Given the description of an element on the screen output the (x, y) to click on. 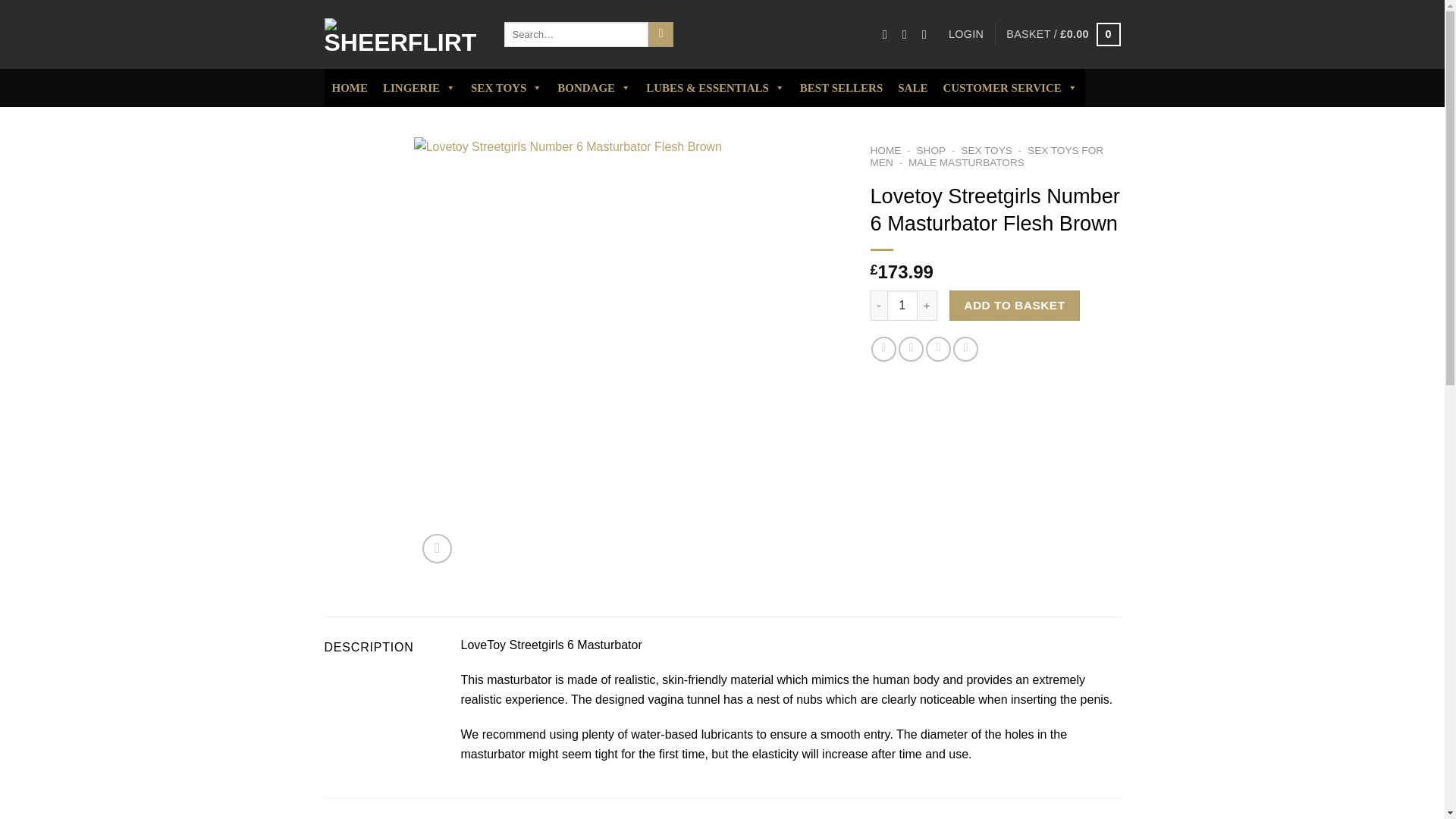
Search (659, 34)
Share on Facebook (883, 348)
HOME (349, 87)
Pin on Pinterest (965, 348)
Follow on Instagram (908, 33)
Follow on Facebook (888, 33)
- (878, 305)
LINGERIE (419, 87)
Email to a Friend (938, 348)
SheerFlirt - pleasure is the journey (402, 34)
Zoom (436, 548)
Share on Twitter (910, 348)
1 (901, 305)
Login (966, 34)
Basket (1062, 33)
